Given the description of an element on the screen output the (x, y) to click on. 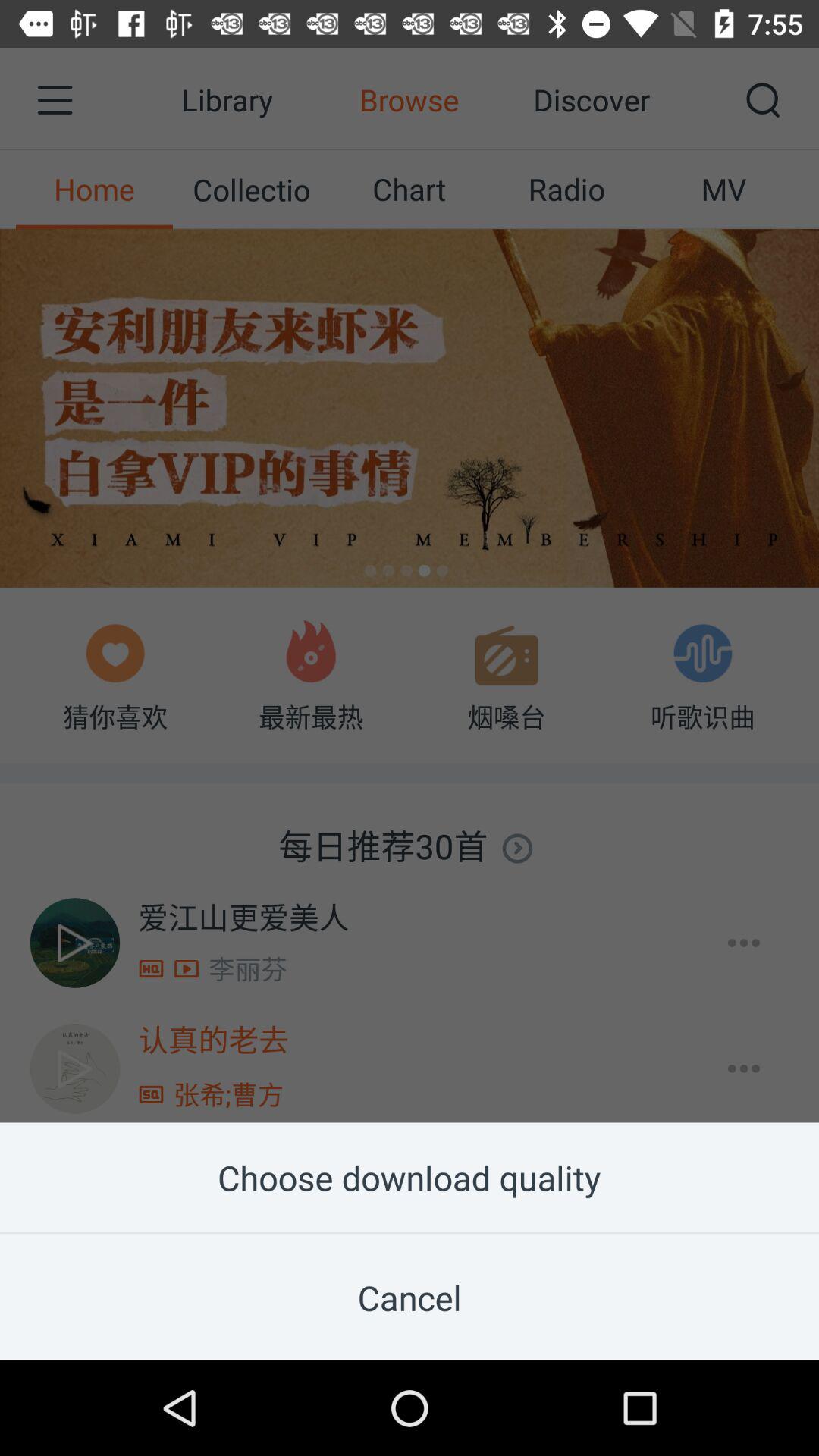
open icon above choose download quality app (409, 561)
